Given the description of an element on the screen output the (x, y) to click on. 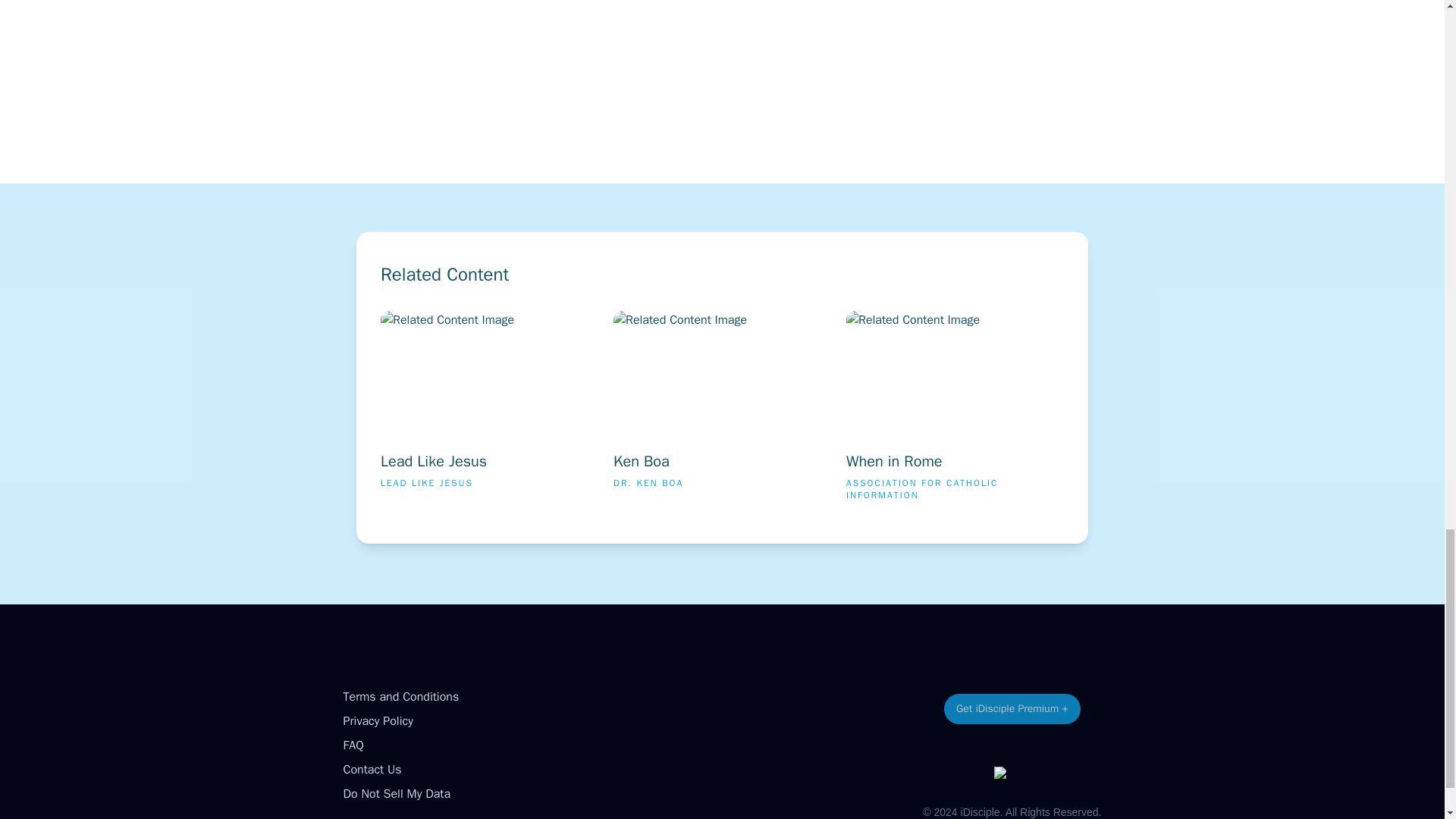
Privacy Policy (377, 720)
FAQ (352, 744)
Contact Us (371, 769)
Terms and Conditions (954, 412)
Do Not Sell My Data (489, 412)
